Given the description of an element on the screen output the (x, y) to click on. 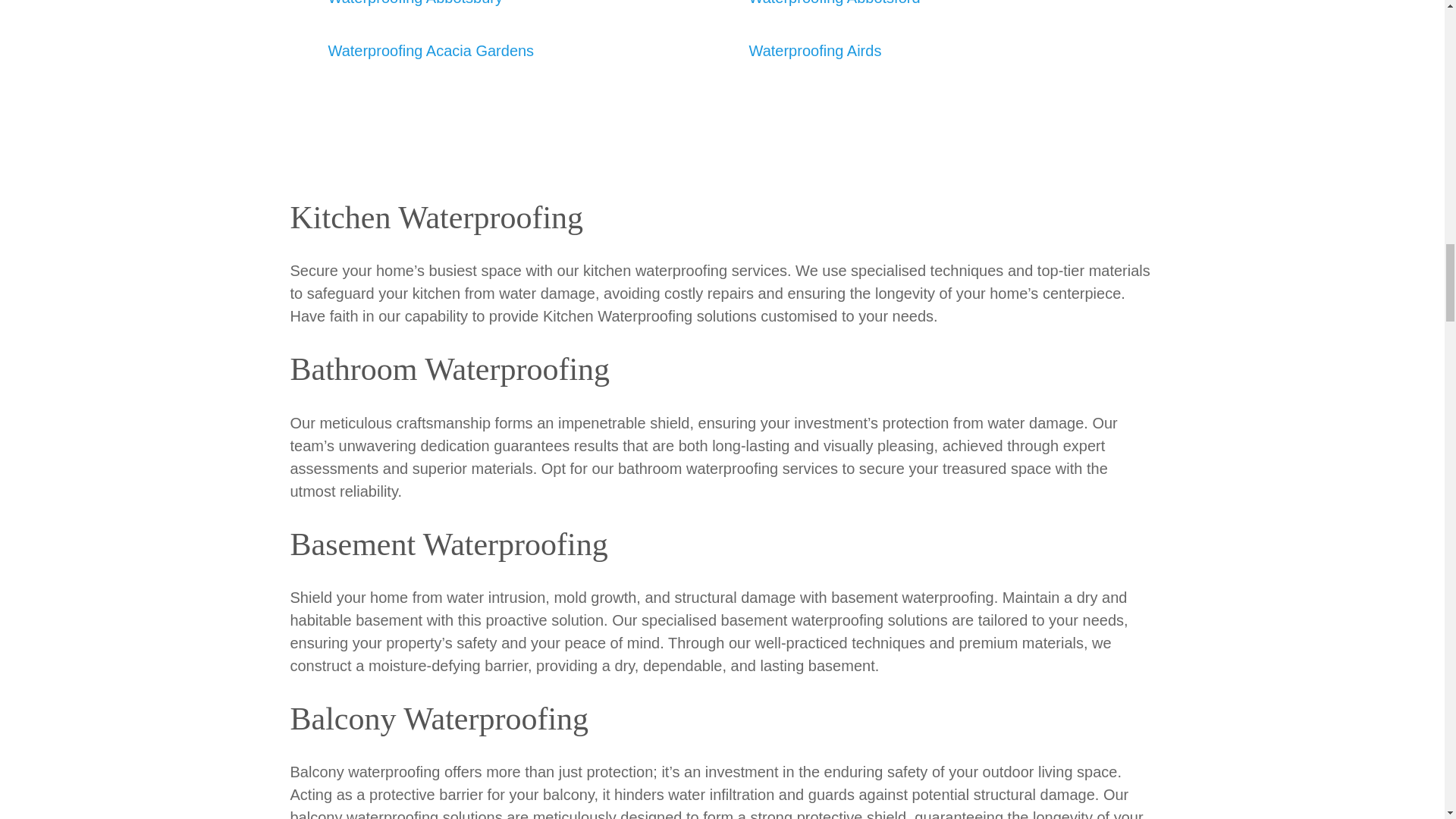
Waterproofing Abbotsford (834, 2)
Waterproofing Airds (815, 50)
Waterproofing Acacia Gardens (430, 50)
Waterproofing Acacia Gardens (430, 50)
Waterproofing Abbotsbury (414, 2)
Waterproofing Abbotsbury (414, 2)
Waterproofing Airds (815, 50)
Waterproofing Abbotsford (834, 2)
